Given the description of an element on the screen output the (x, y) to click on. 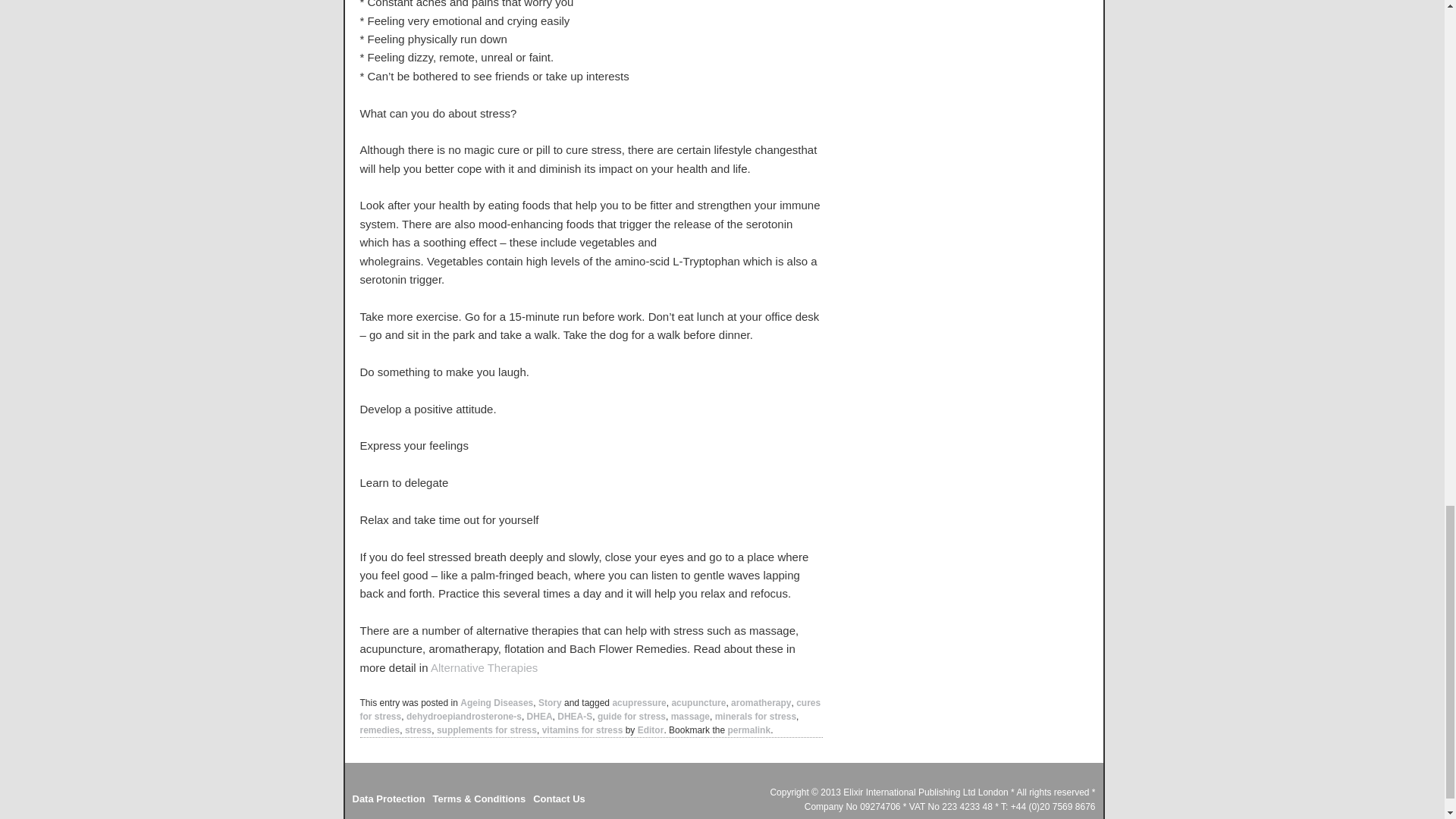
Permalink to Stress (748, 729)
